Given the description of an element on the screen output the (x, y) to click on. 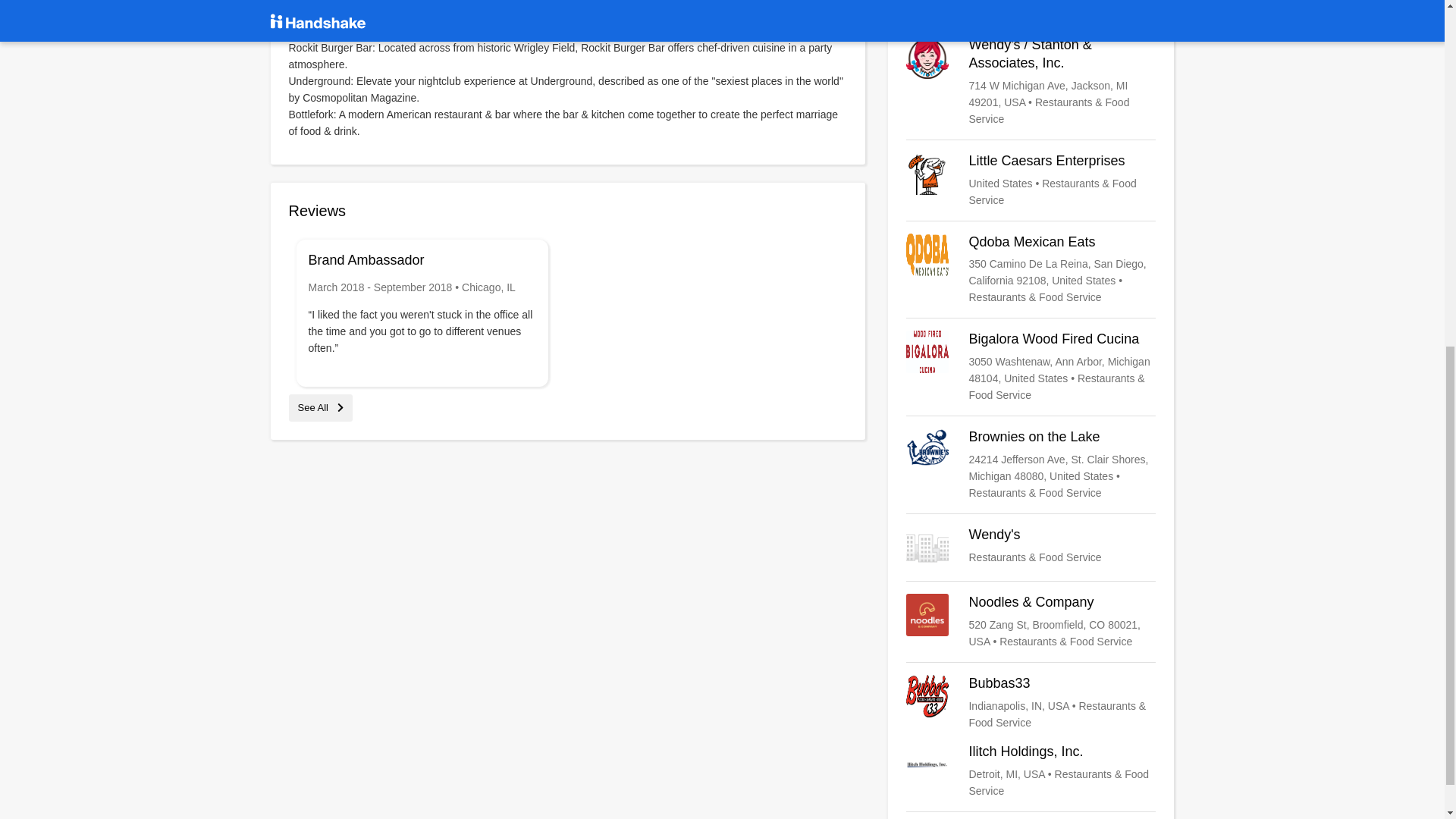
Ilitch Holdings, Inc. (1030, 770)
Qdoba Mexican Eats (1030, 269)
Brownies on the Lake (1030, 464)
Wendy's (1030, 547)
Little Caesars Enterprises (1030, 180)
Bubbas33 (1030, 702)
See All (320, 407)
Bigalora Wood Fired Cucina (1030, 366)
Levy (1030, 5)
